Given the description of an element on the screen output the (x, y) to click on. 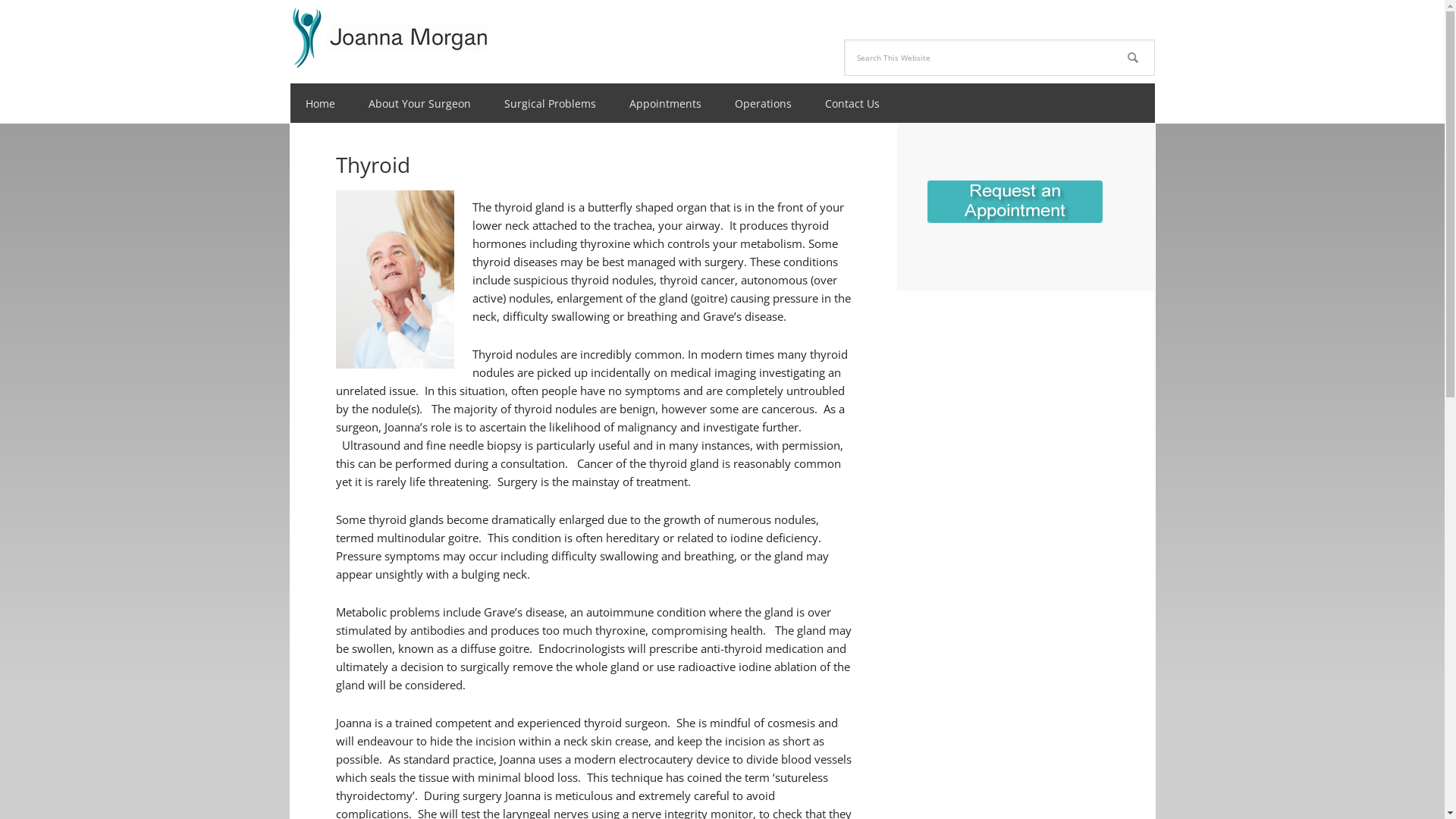
Operations Element type: text (762, 103)
Appointments Element type: text (665, 103)
Surgical Problems Element type: text (549, 103)
Contact Us Element type: text (851, 103)
Search Element type: text (1154, 38)
Dr Joanna Morgan Element type: text (387, 34)
About Your Surgeon Element type: text (419, 103)
Home Element type: text (319, 103)
